Given the description of an element on the screen output the (x, y) to click on. 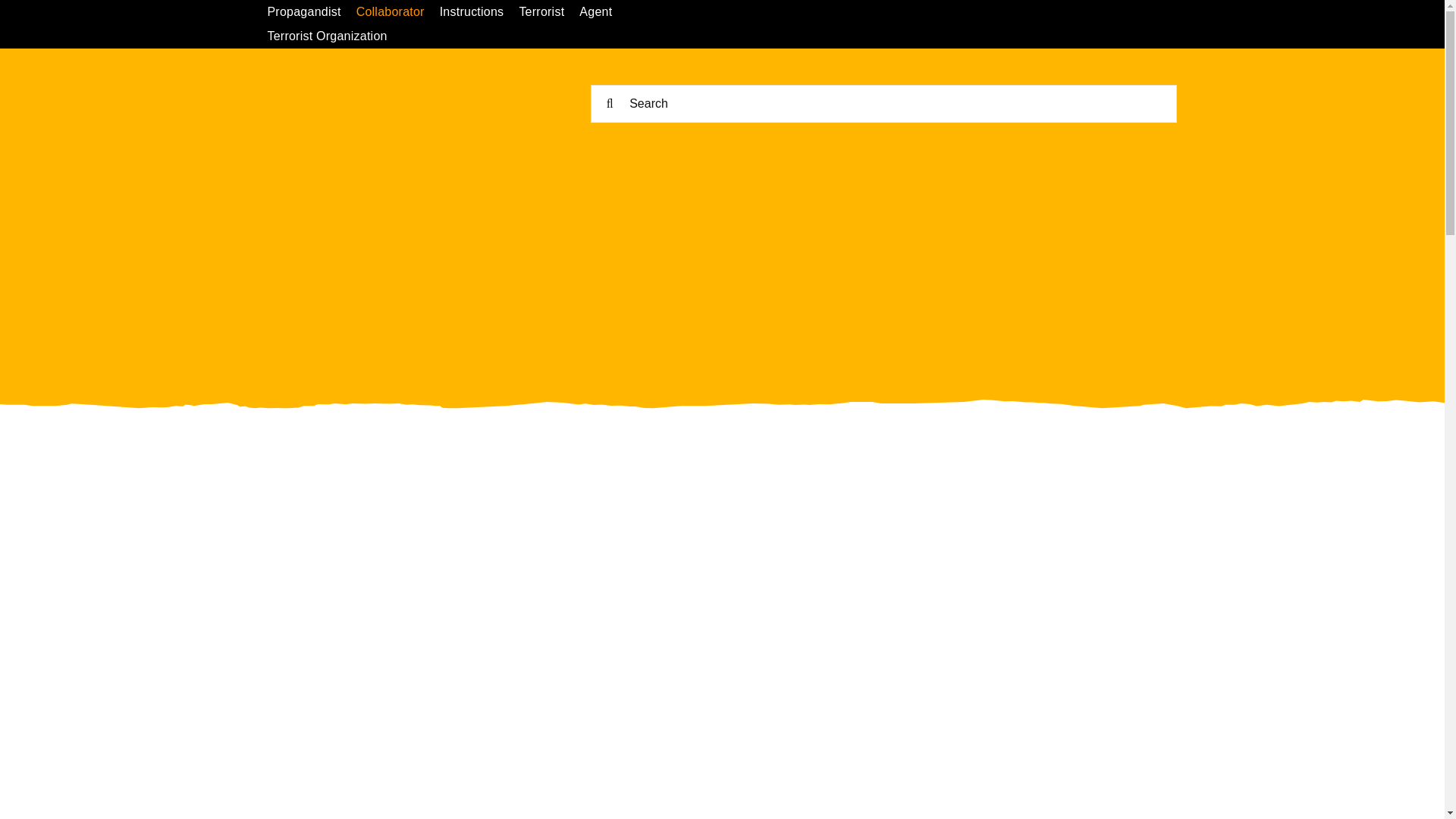
Instructions (479, 12)
Agent (603, 12)
Terrorist (548, 12)
Terrorist Organization (333, 36)
Collaborator (397, 12)
Propagandist (310, 12)
